Given the description of an element on the screen output the (x, y) to click on. 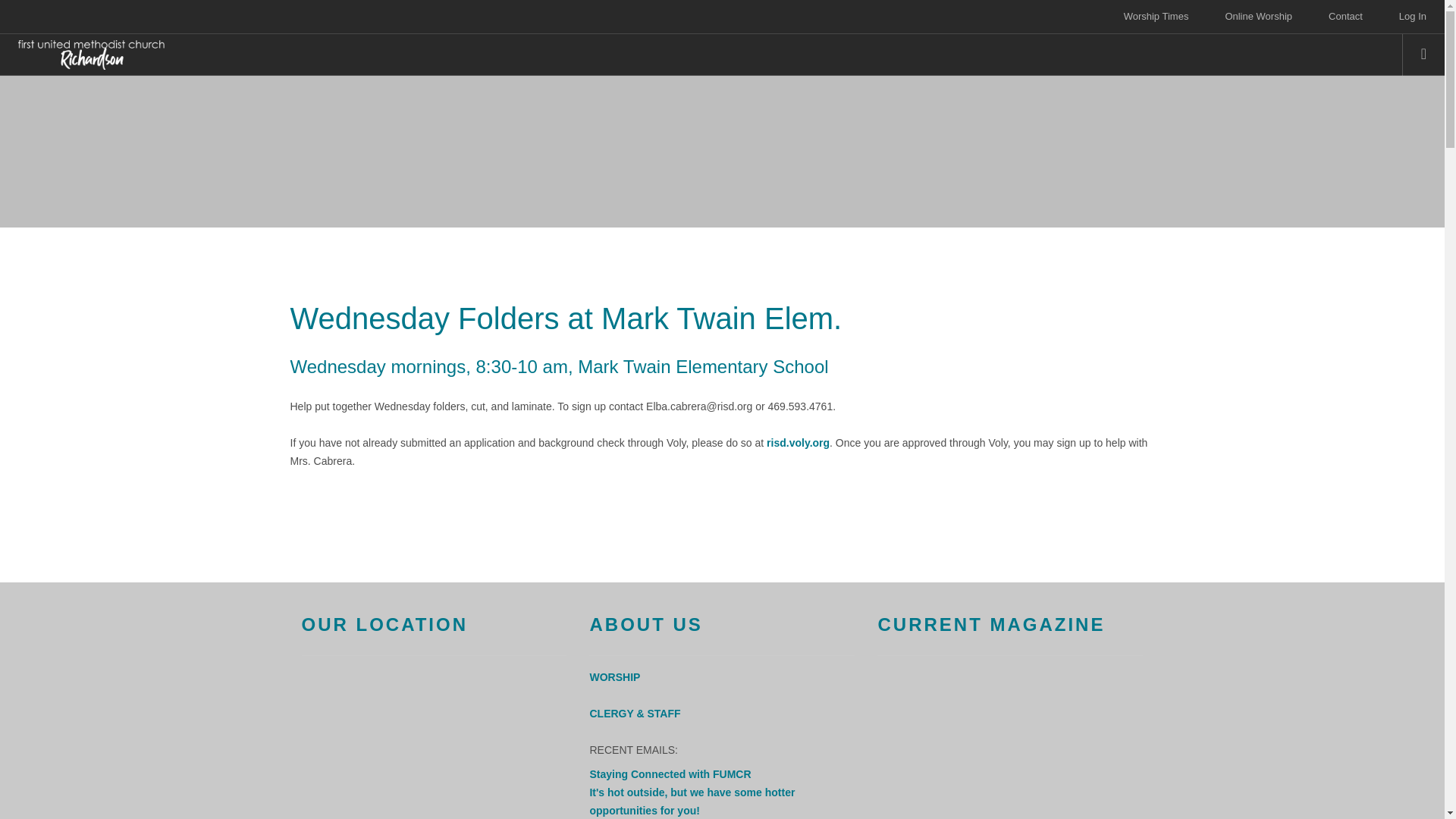
Worship Times (1156, 16)
Contact (1344, 16)
Online Worship (1258, 16)
Log In (1412, 16)
